Given the description of an element on the screen output the (x, y) to click on. 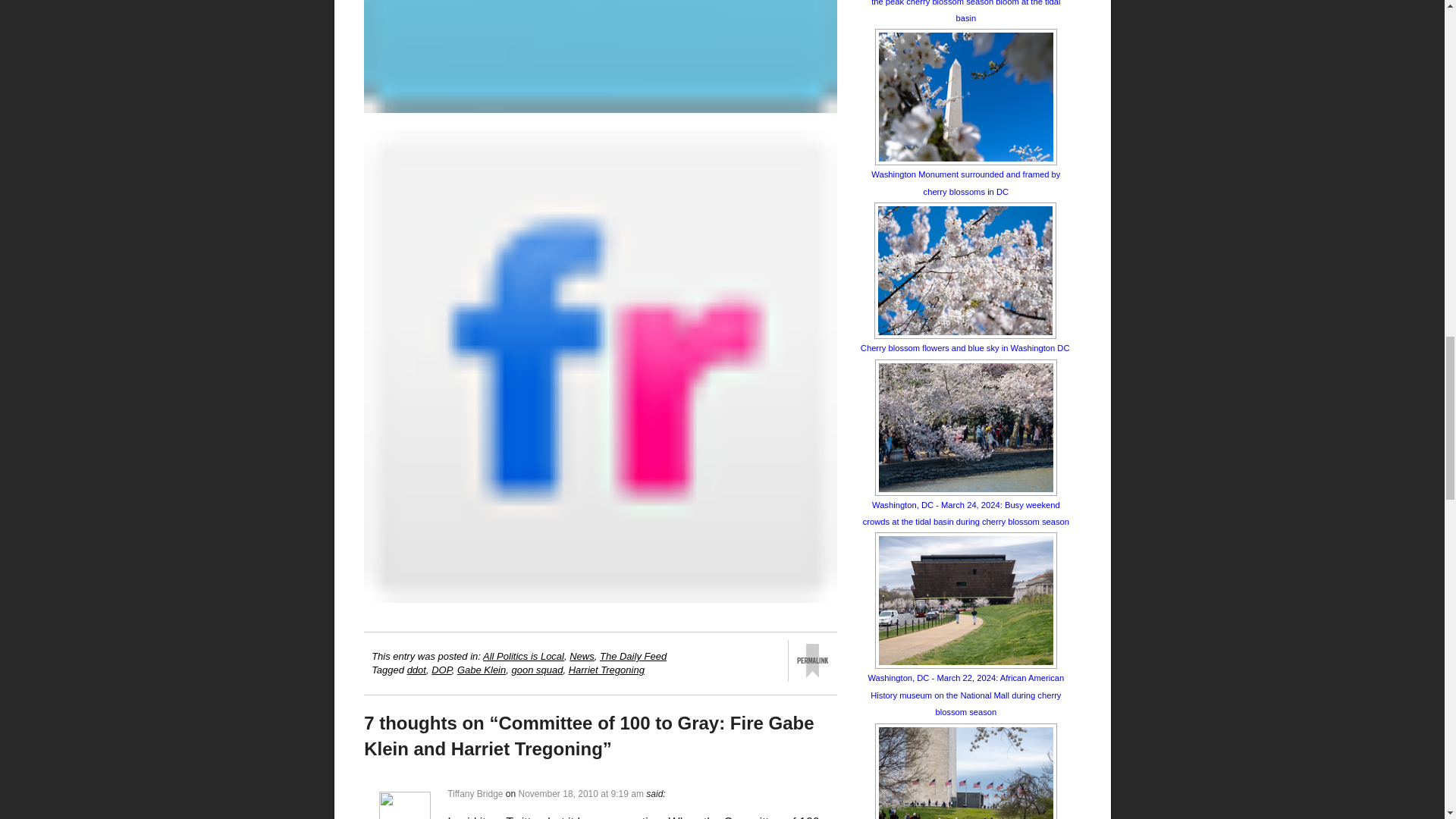
All Politics is Local (523, 655)
Gabe Klein (481, 669)
Tiffany Bridge (474, 793)
The Daily Feed (632, 655)
News (581, 655)
November 18, 2010 at 9:19 am (580, 793)
ddot (416, 669)
goon squad (536, 669)
Harriet Tregoning (607, 669)
DOP (440, 669)
